Given the description of an element on the screen output the (x, y) to click on. 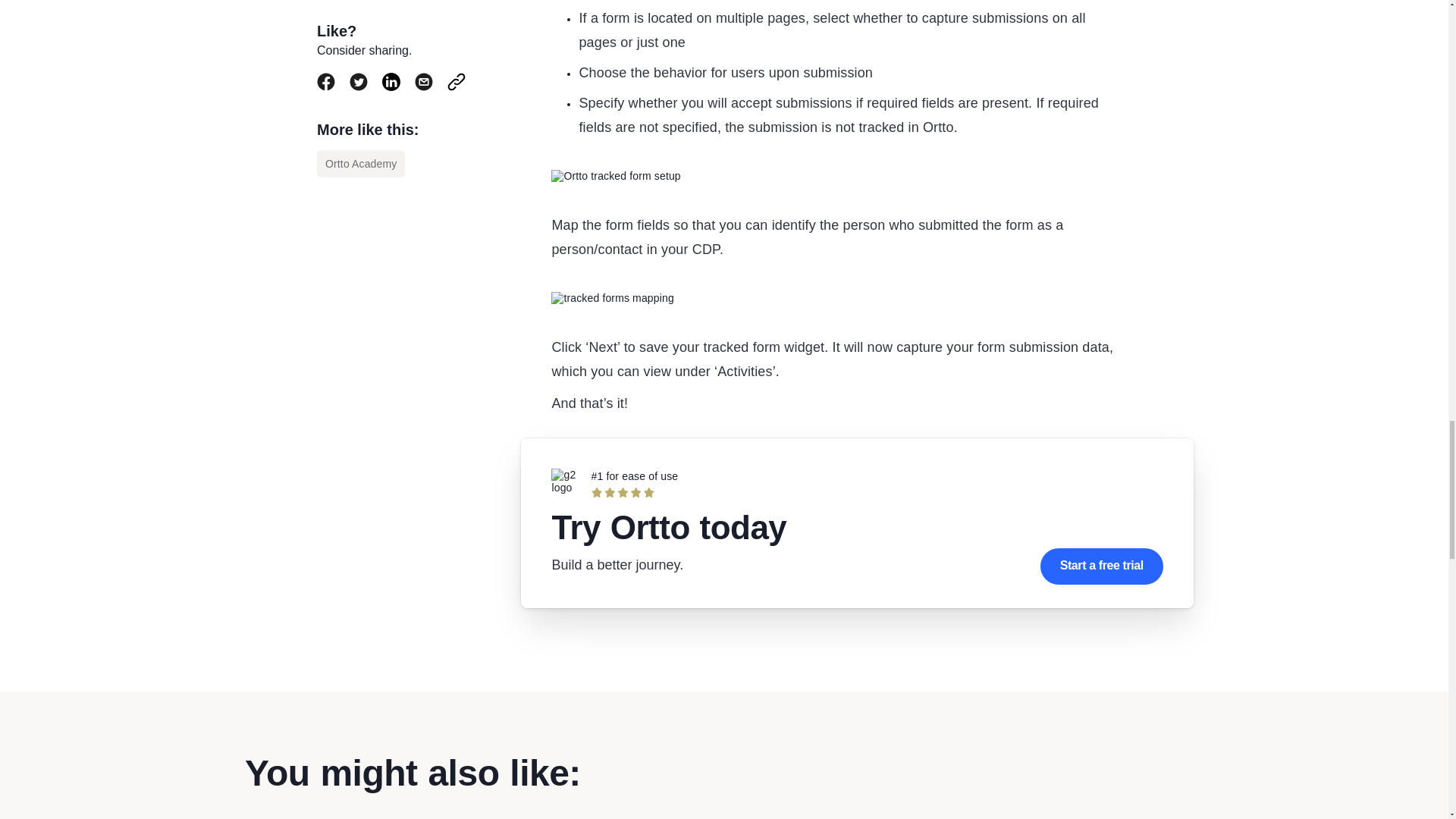
Start a free trial (1102, 565)
